Given the description of an element on the screen output the (x, y) to click on. 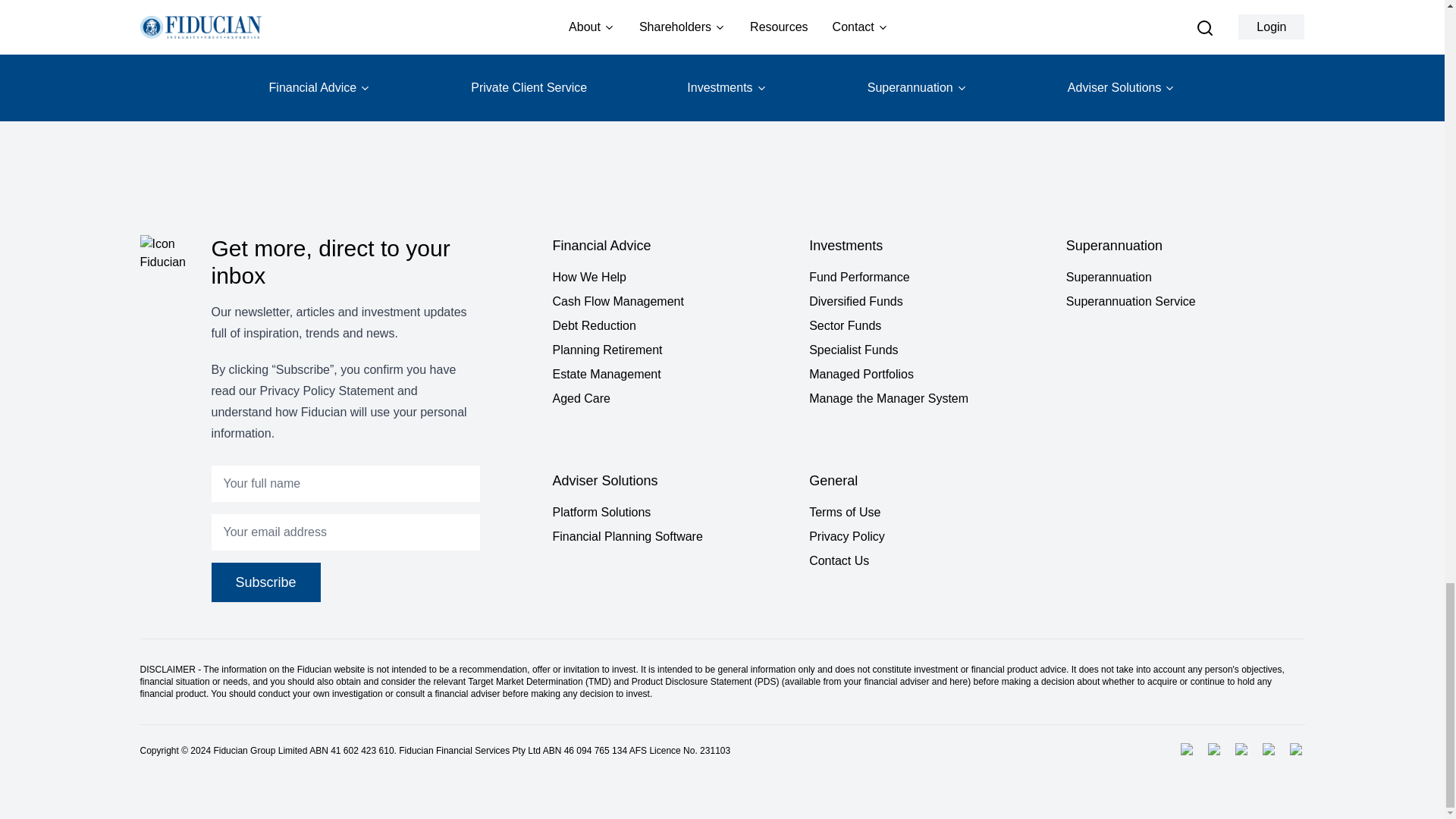
Cash Flow Management (670, 301)
Managed Portfolios (928, 374)
Sector Funds (928, 325)
Debt Reduction (670, 325)
Specialist Funds (928, 350)
Financial Planning Software (670, 536)
How We Help (670, 277)
Subscribe (265, 581)
Superannuation Service (1184, 301)
Planning Retirement (670, 350)
